Given the description of an element on the screen output the (x, y) to click on. 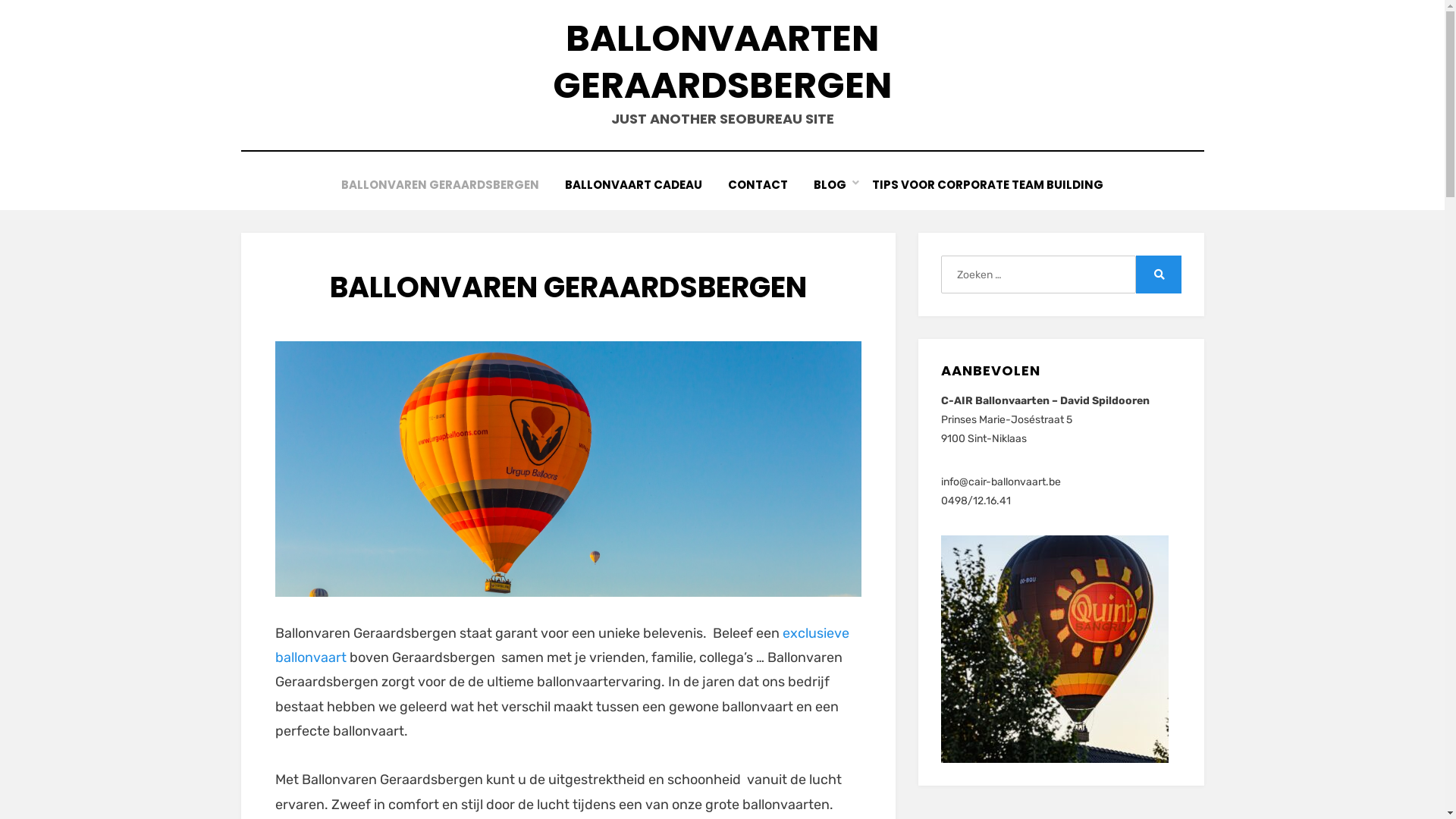
TIPS VOOR CORPORATE TEAM BUILDING Element type: text (987, 184)
exclusieve ballonvaart Element type: text (561, 644)
Zoeken naar: Element type: hover (1038, 274)
BALLONVAART CADEAU Element type: text (633, 184)
BALLONVAREN GERAARDSBERGEN Element type: text (440, 184)
BLOG Element type: text (829, 184)
0498/12.16.41 Element type: text (975, 500)
info@cair-ballonvaart.be Element type: text (1000, 481)
Zoeken Element type: text (1158, 274)
BALLONVAARTEN GERAARDSBERGEN Element type: text (721, 61)
CONTACT Element type: text (757, 184)
